Given the description of an element on the screen output the (x, y) to click on. 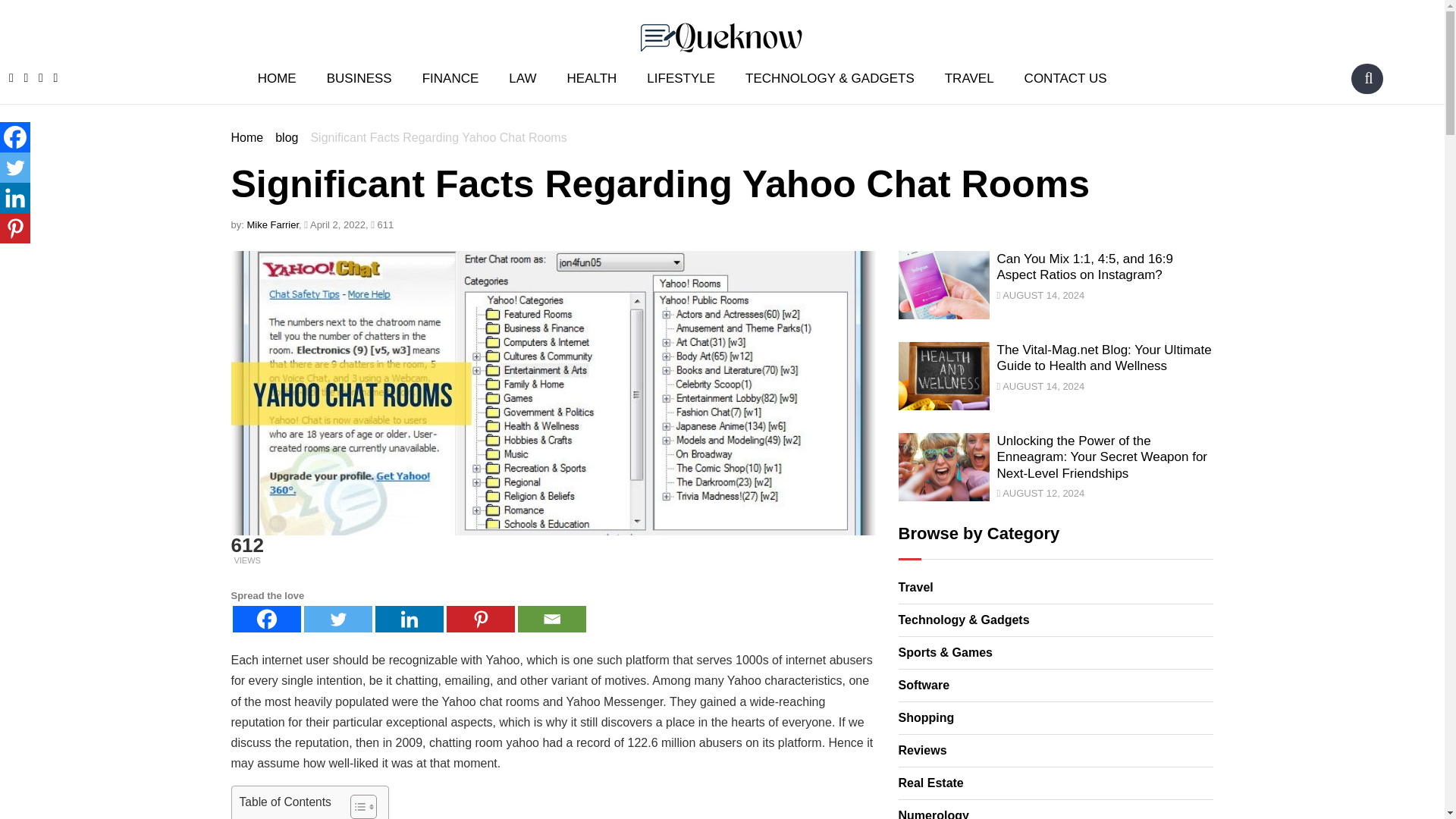
Twitter (336, 619)
Pinterest (479, 619)
HOME (277, 77)
Facebook (265, 619)
BUSINESS (359, 77)
Search (1368, 77)
Home (246, 137)
HEALTH (591, 77)
April 2, 2022 (334, 224)
LIFESTYLE (680, 77)
